Given the description of an element on the screen output the (x, y) to click on. 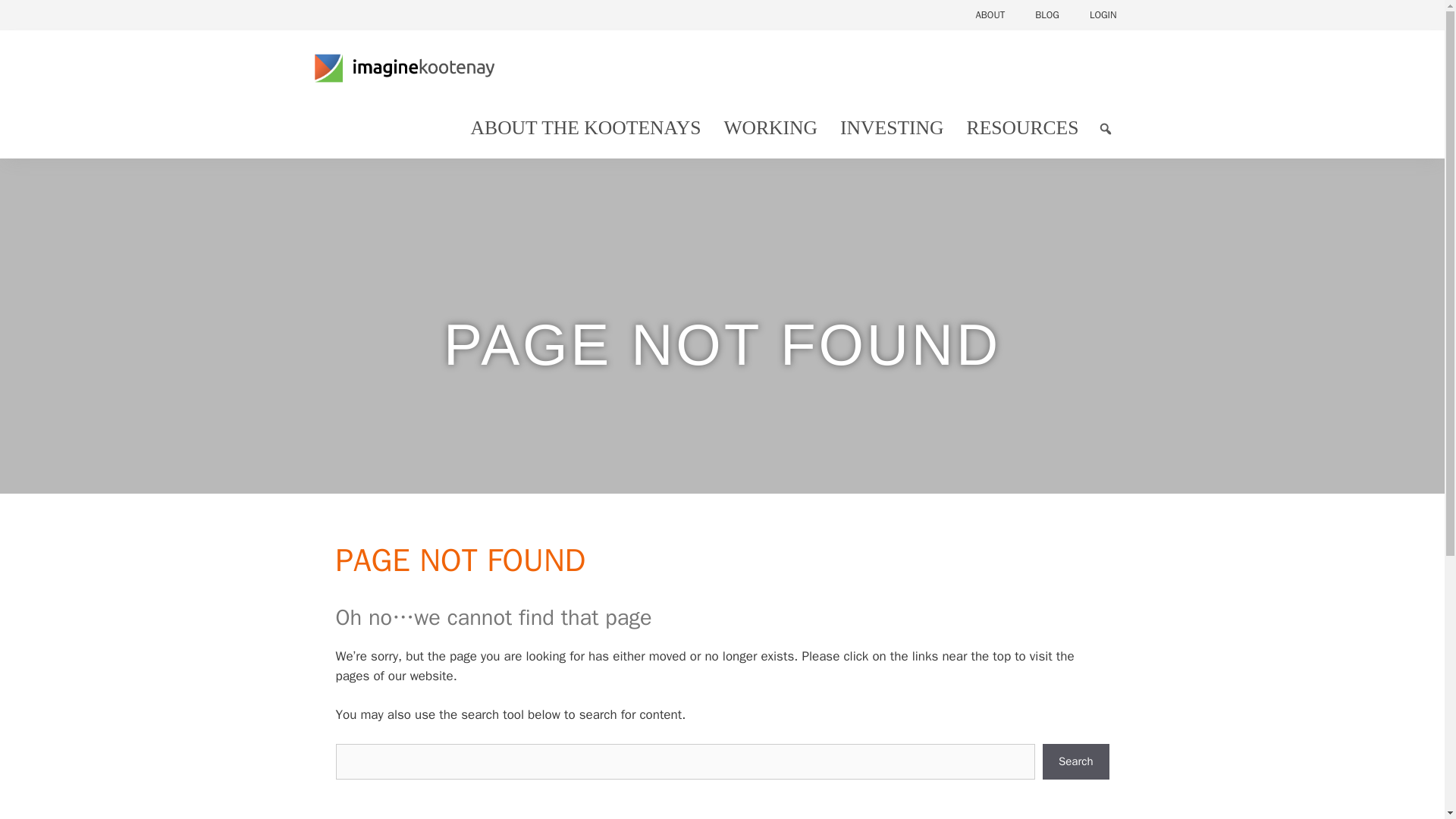
ABOUT THE KOOTENAYS (586, 127)
ABOUT (989, 15)
LOGIN (1103, 15)
INVESTING (891, 127)
BLOG (1047, 15)
WORKING (770, 127)
